Given the description of an element on the screen output the (x, y) to click on. 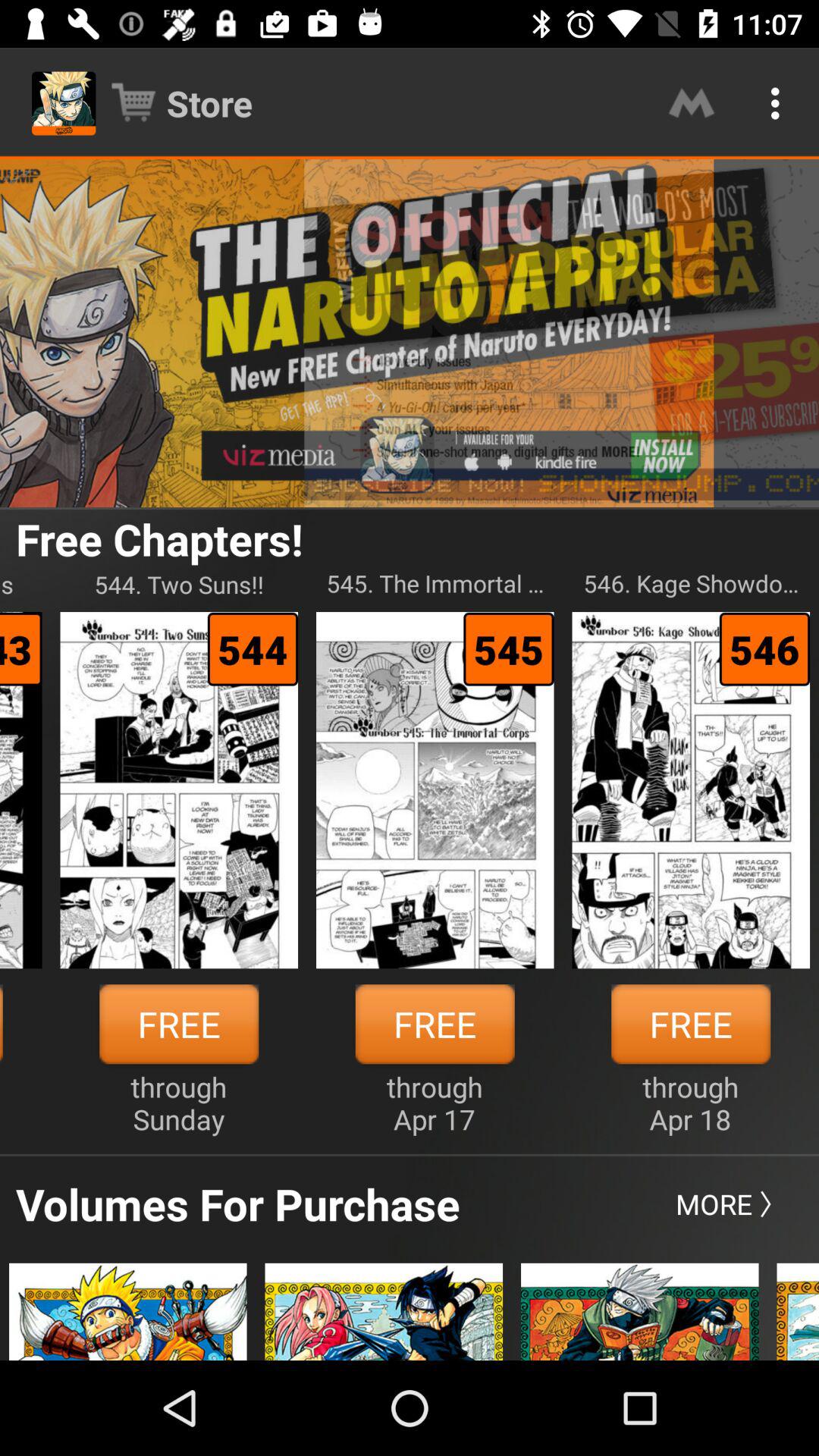
choose through
sunday item (178, 1103)
